Given the description of an element on the screen output the (x, y) to click on. 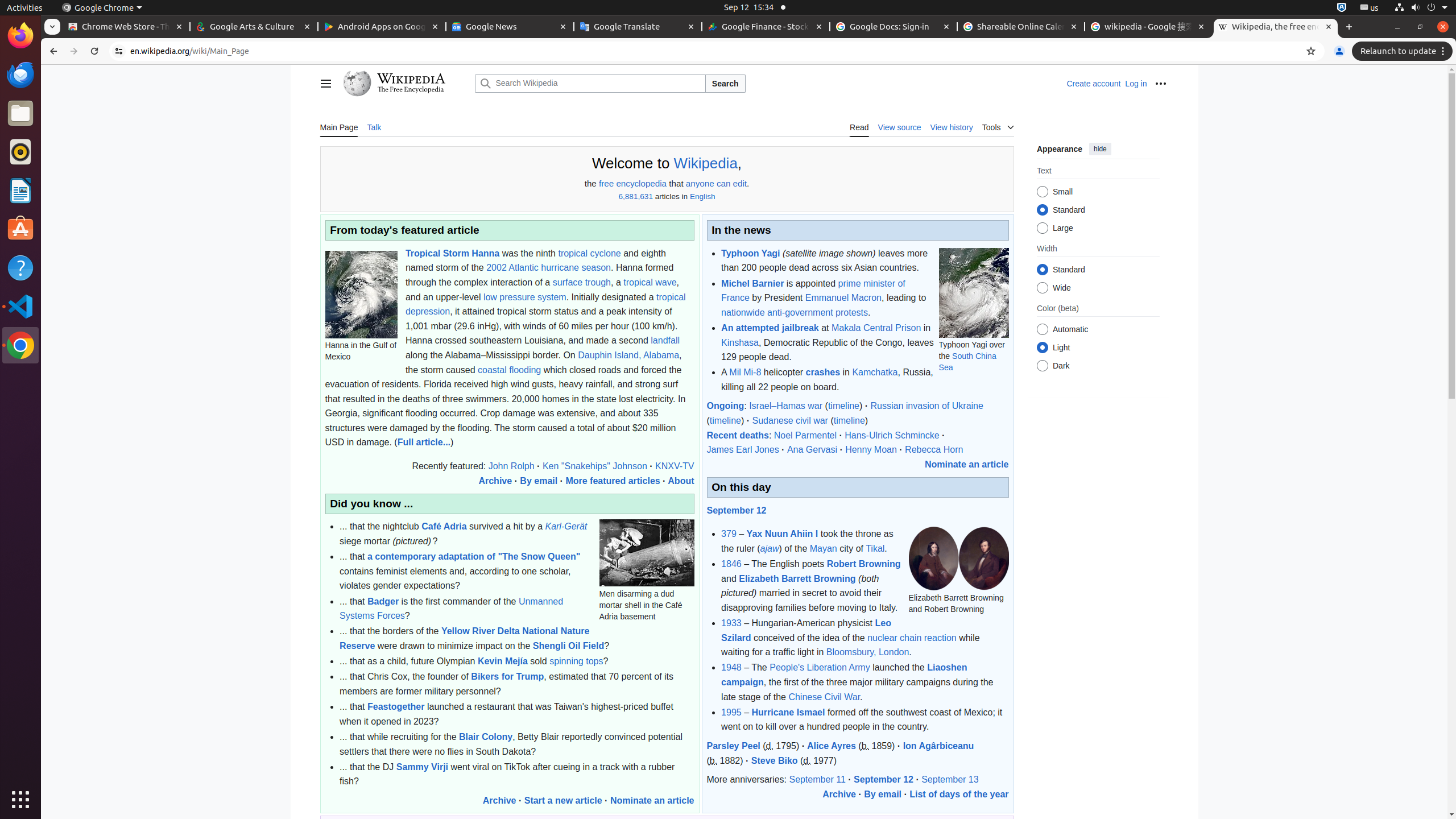
Talk Element type: link (373, 126)
tropical wave Element type: link (649, 281)
More featured articles Element type: link (612, 480)
English Element type: link (702, 196)
landfall Element type: link (664, 340)
